Given the description of an element on the screen output the (x, y) to click on. 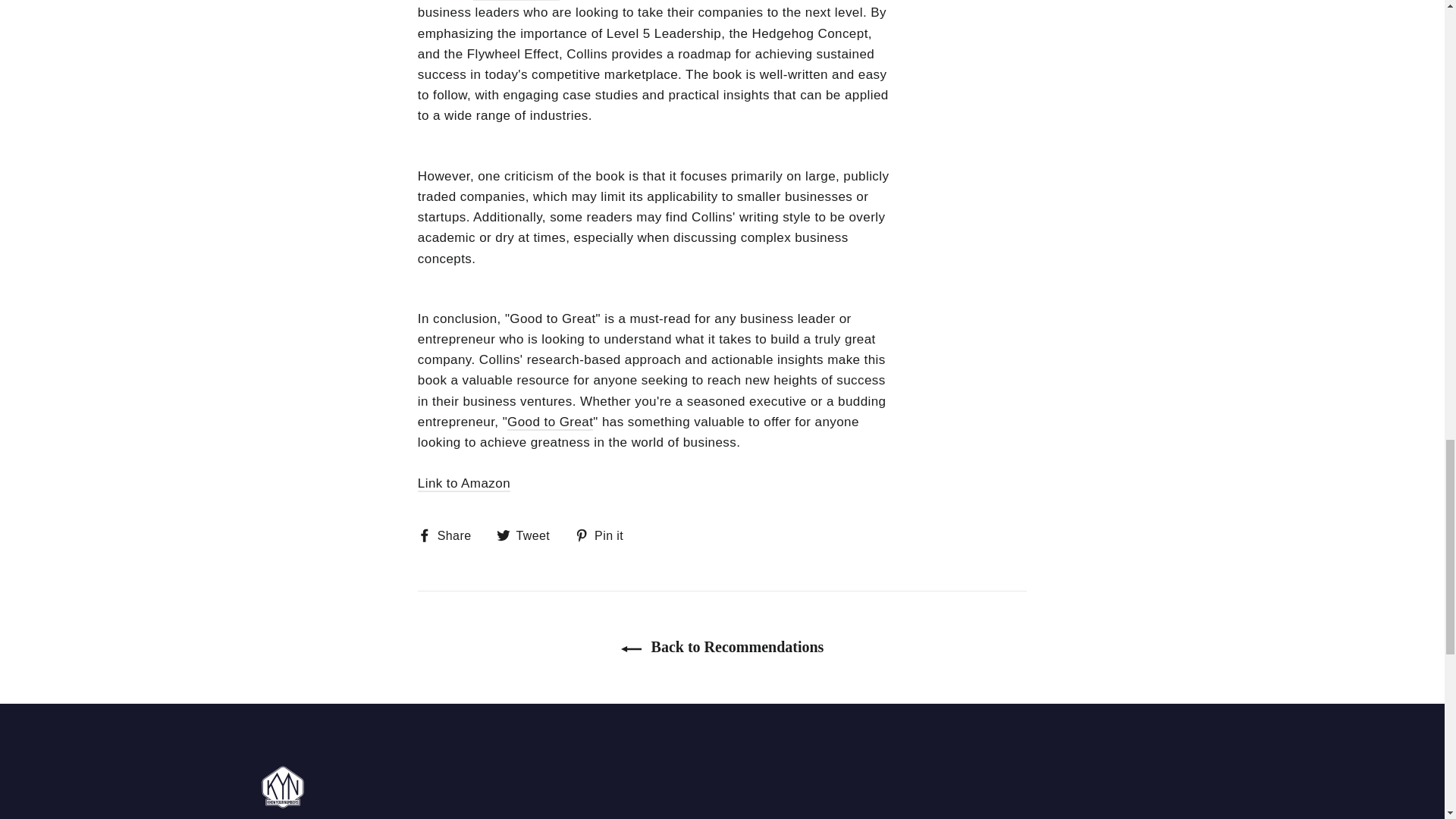
Share on Facebook (450, 535)
Pin on Pinterest (604, 535)
Tweet on Twitter (529, 535)
